Given the description of an element on the screen output the (x, y) to click on. 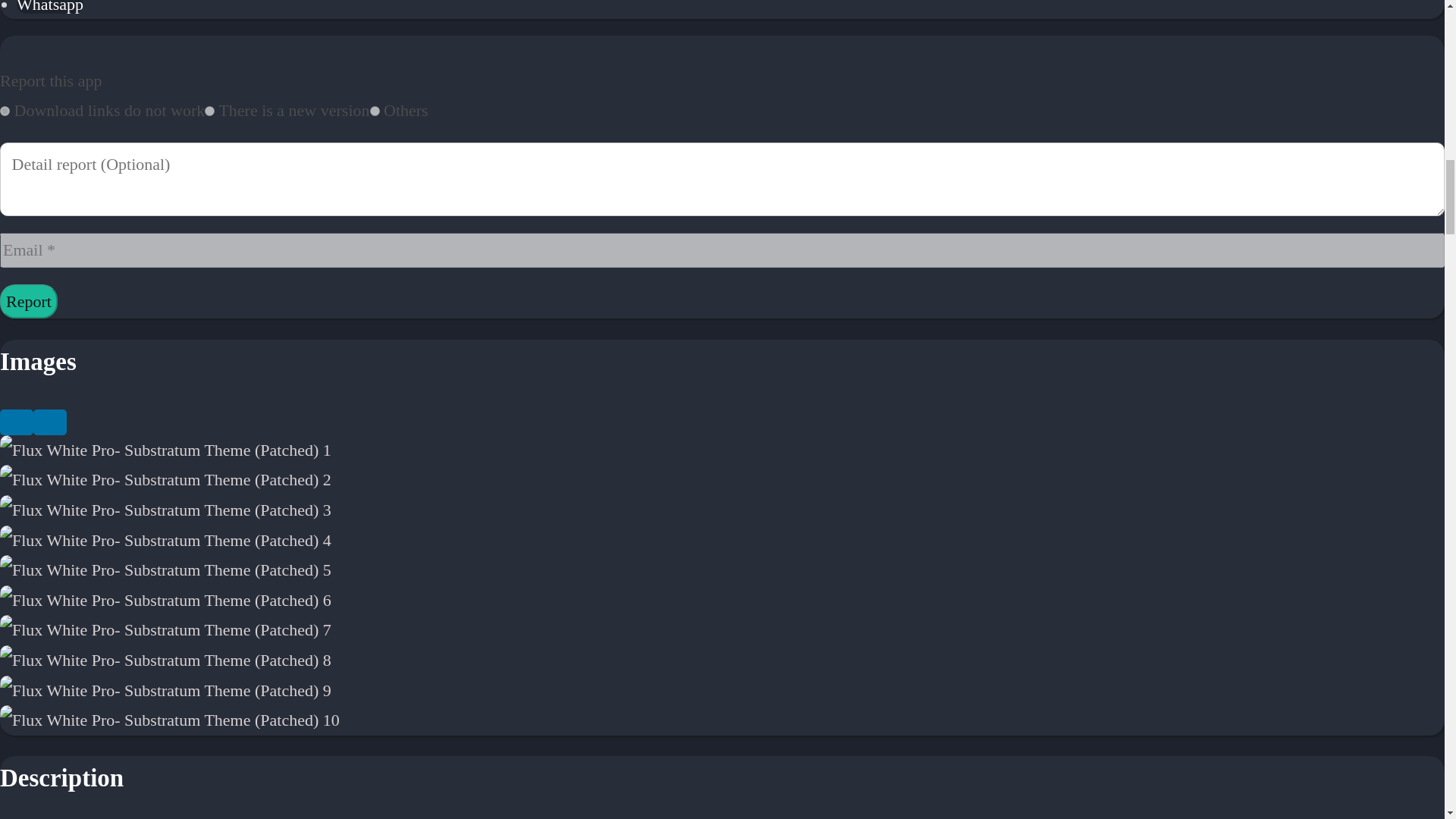
2 (209, 111)
Report (29, 301)
Previous (16, 421)
Next (49, 421)
3 (374, 111)
1 (5, 111)
